Given the description of an element on the screen output the (x, y) to click on. 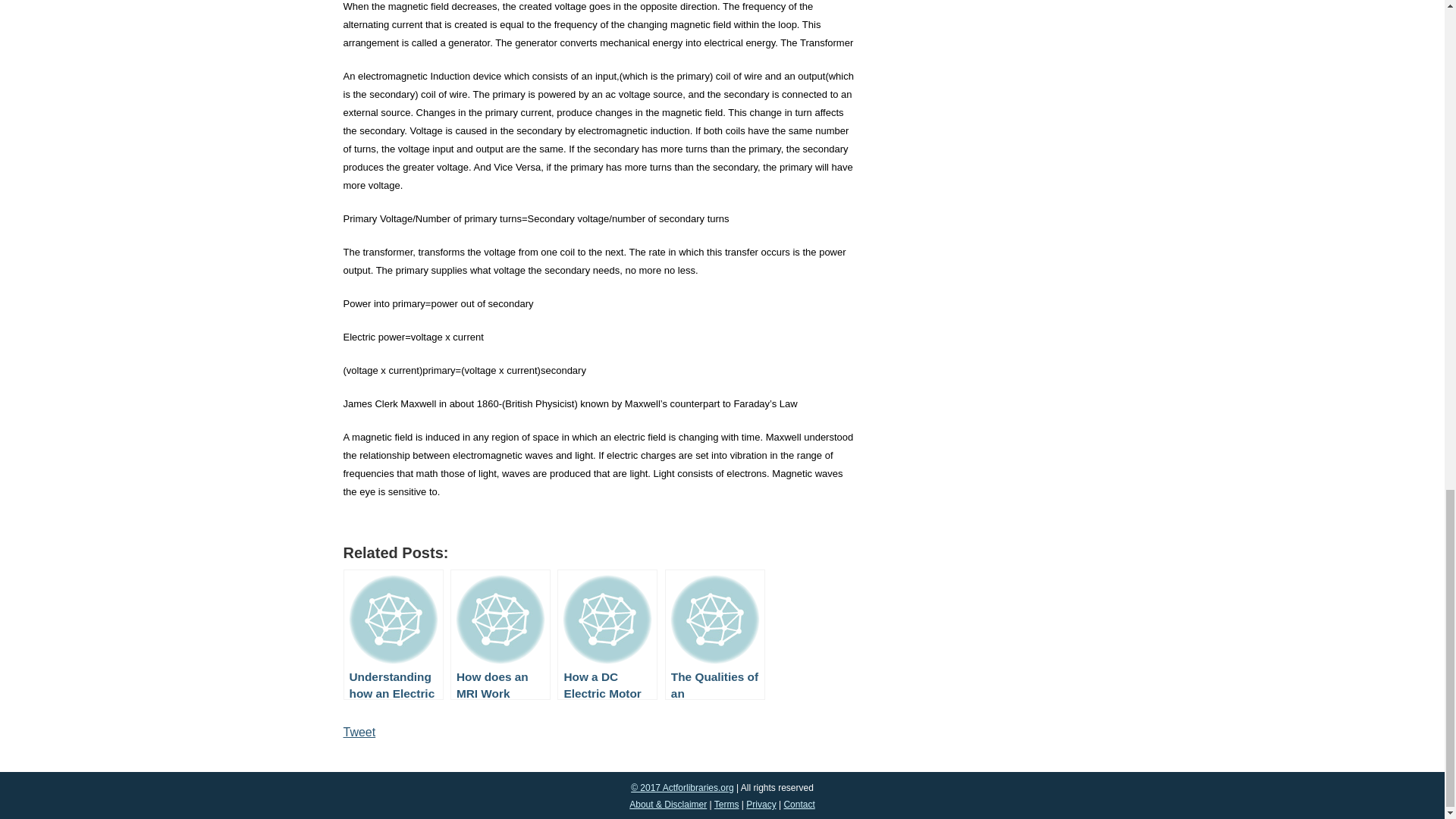
Terms (726, 804)
Contact (798, 804)
Privacy (760, 804)
Tweet (358, 731)
